Given the description of an element on the screen output the (x, y) to click on. 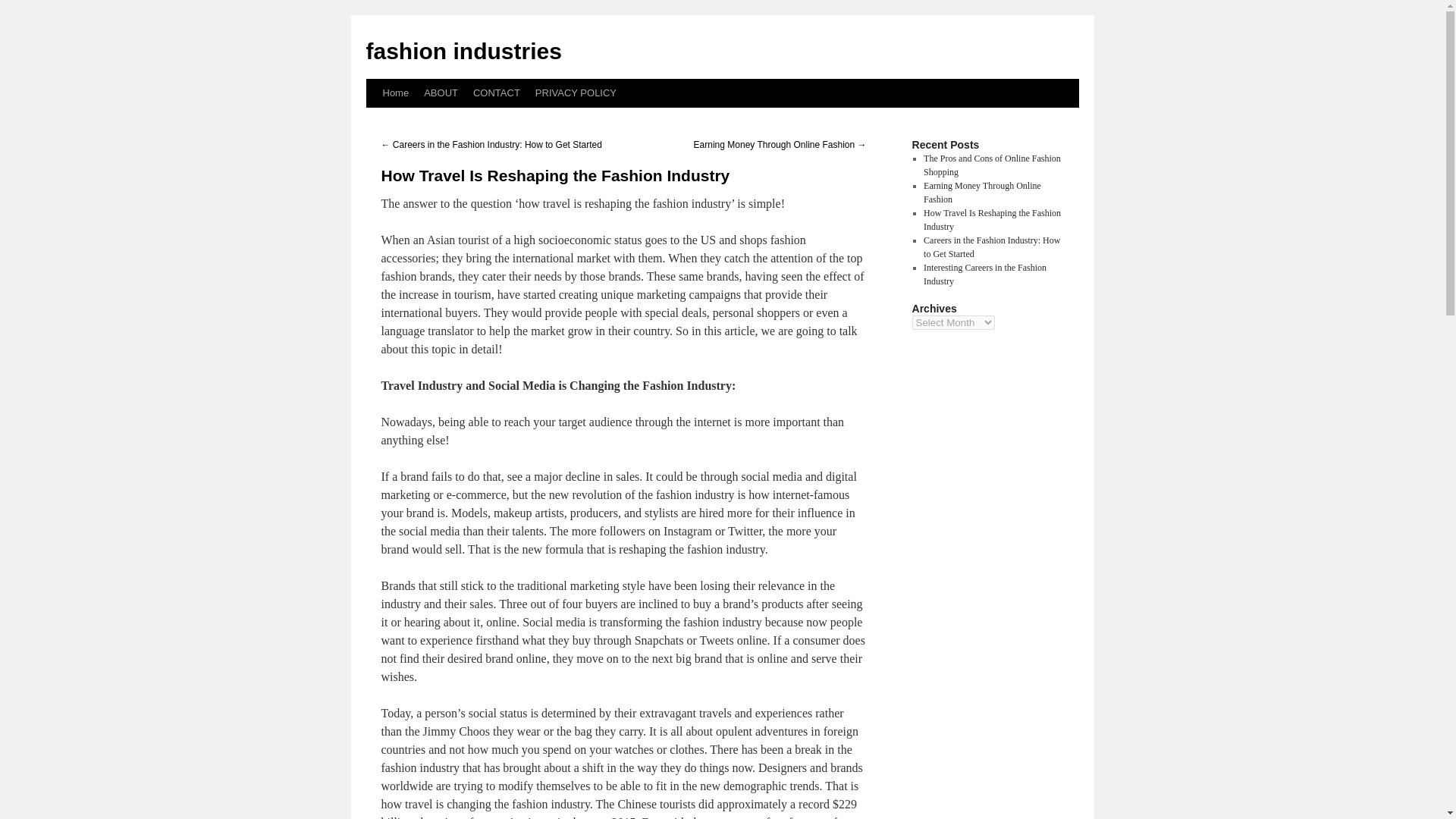
CONTACT (496, 92)
PRIVACY POLICY (575, 92)
The Pros and Cons of Online Fashion Shopping (992, 165)
Careers in the Fashion Industry: How to Get Started (991, 247)
ABOUT (440, 92)
ABOUT (440, 92)
How Travel Is Reshaping the Fashion Industry (992, 219)
Home (395, 92)
Careers in the Fashion Industry: How to Get Started (991, 247)
Earning Money Through Online Fashion (982, 192)
